Given the description of an element on the screen output the (x, y) to click on. 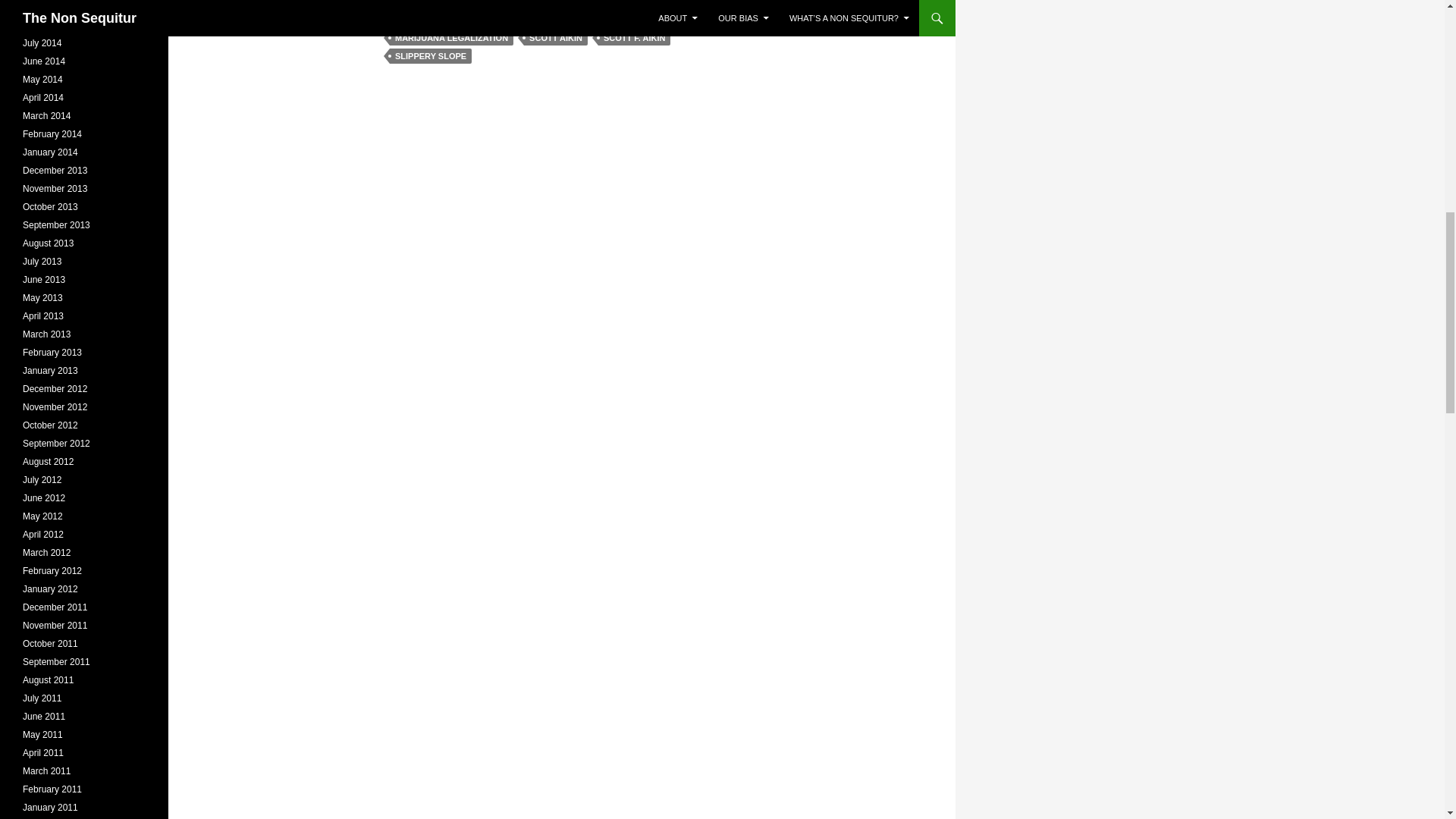
SCOTT F. AIKIN (633, 37)
SCOTT AIKIN (556, 37)
GEORGE WILL (512, 19)
SLIPPERY SLOPE (430, 55)
HUFFINGTON POST (602, 19)
BARNEY FRANK (428, 19)
MARIJUANA LEGALIZATION (451, 37)
